Given the description of an element on the screen output the (x, y) to click on. 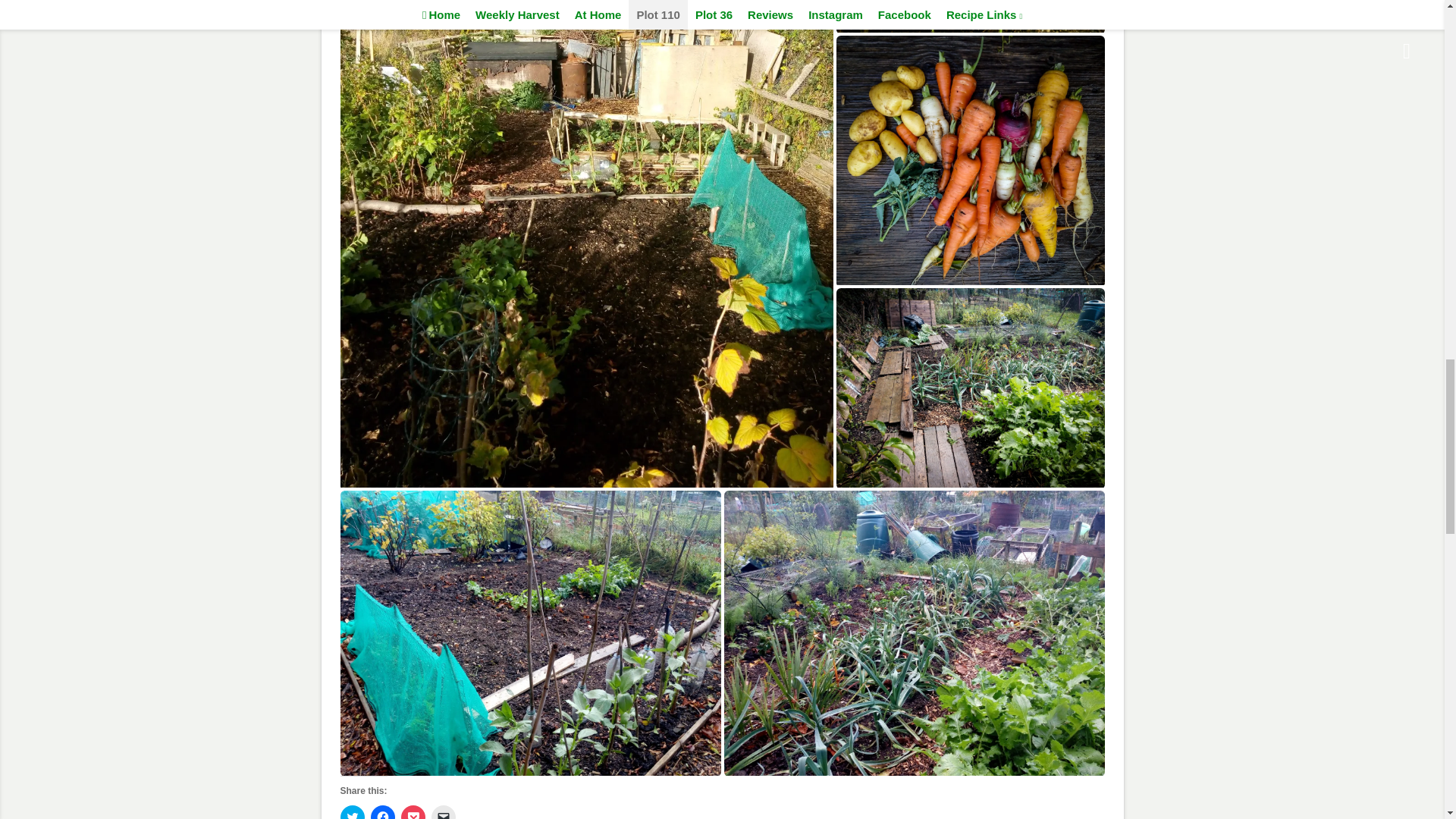
Click to email a link to a friend (442, 812)
Click to share on Twitter (351, 812)
Click to share on Pocket (412, 812)
Click to share on Facebook (381, 812)
